Given the description of an element on the screen output the (x, y) to click on. 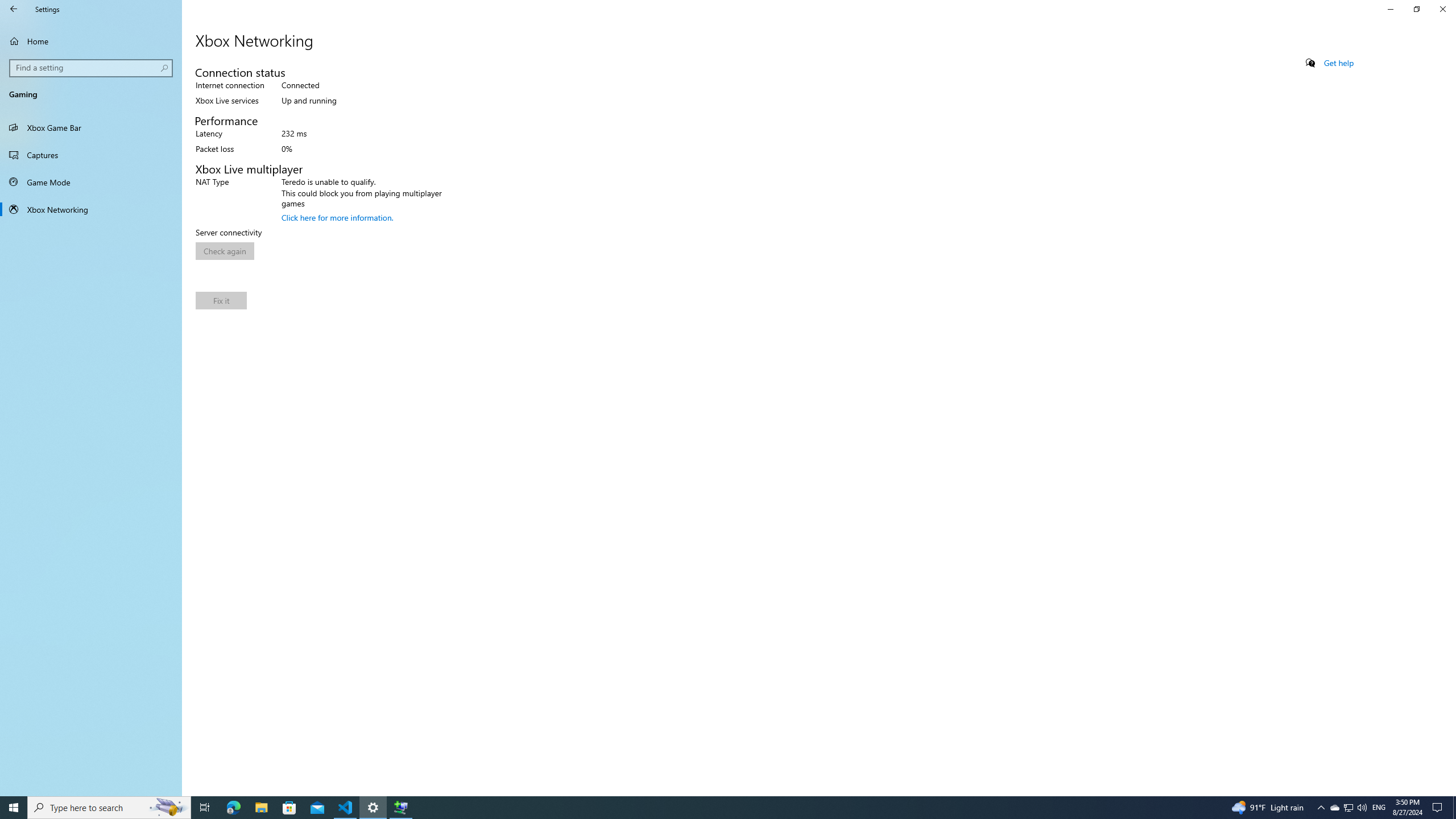
Extensible Wizards Host Process - 1 running window (1347, 807)
Tray Input Indicator - English (United States) (400, 807)
Xbox Game Bar (1378, 807)
Get help (91, 126)
Click here for more information. (1338, 62)
File Explorer (337, 217)
Type here to search (261, 807)
Close Settings (108, 807)
Fix it (1442, 9)
Captures (221, 300)
Running applications (91, 154)
